Given the description of an element on the screen output the (x, y) to click on. 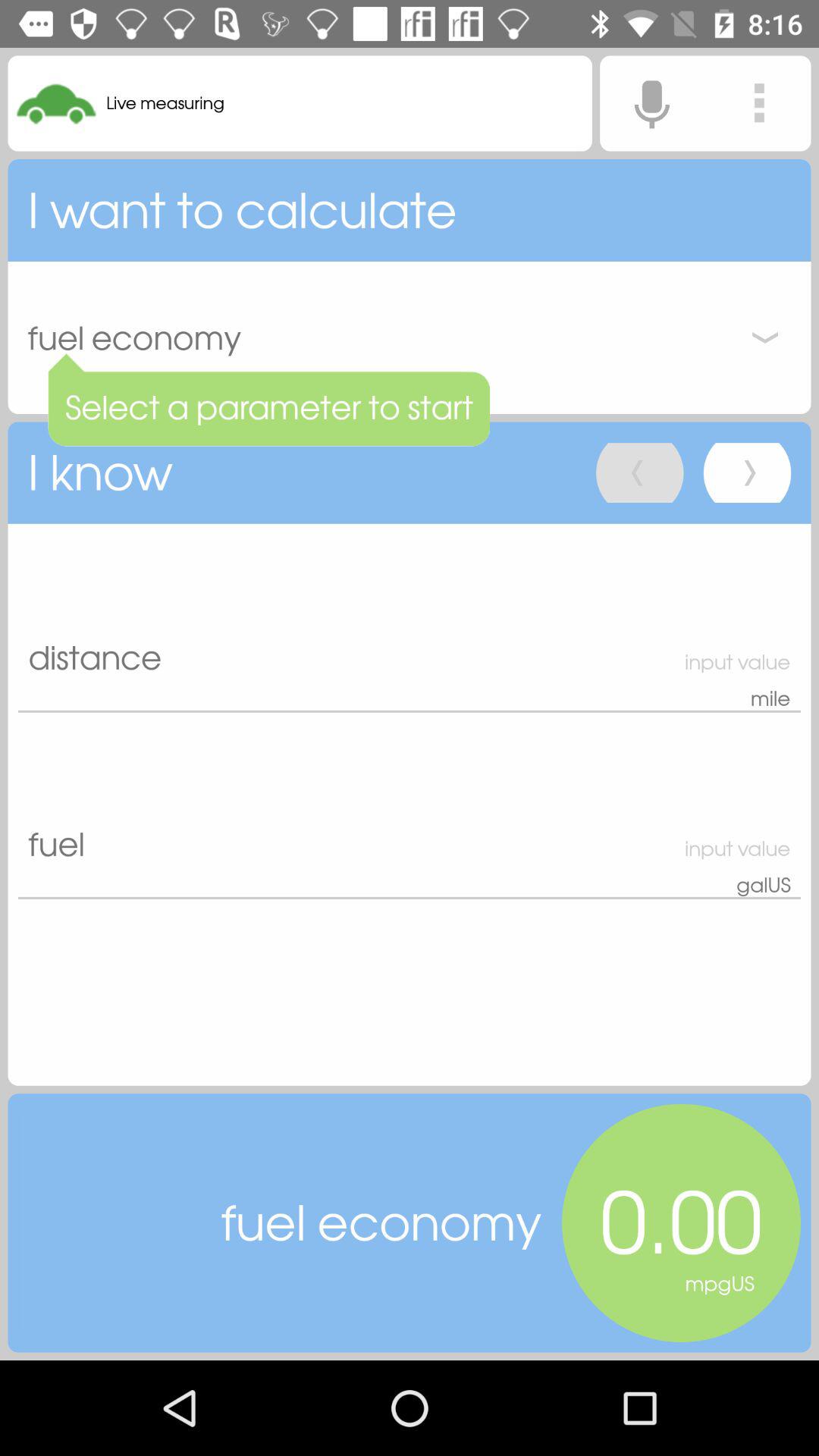
vocal assistant (651, 103)
